Given the description of an element on the screen output the (x, y) to click on. 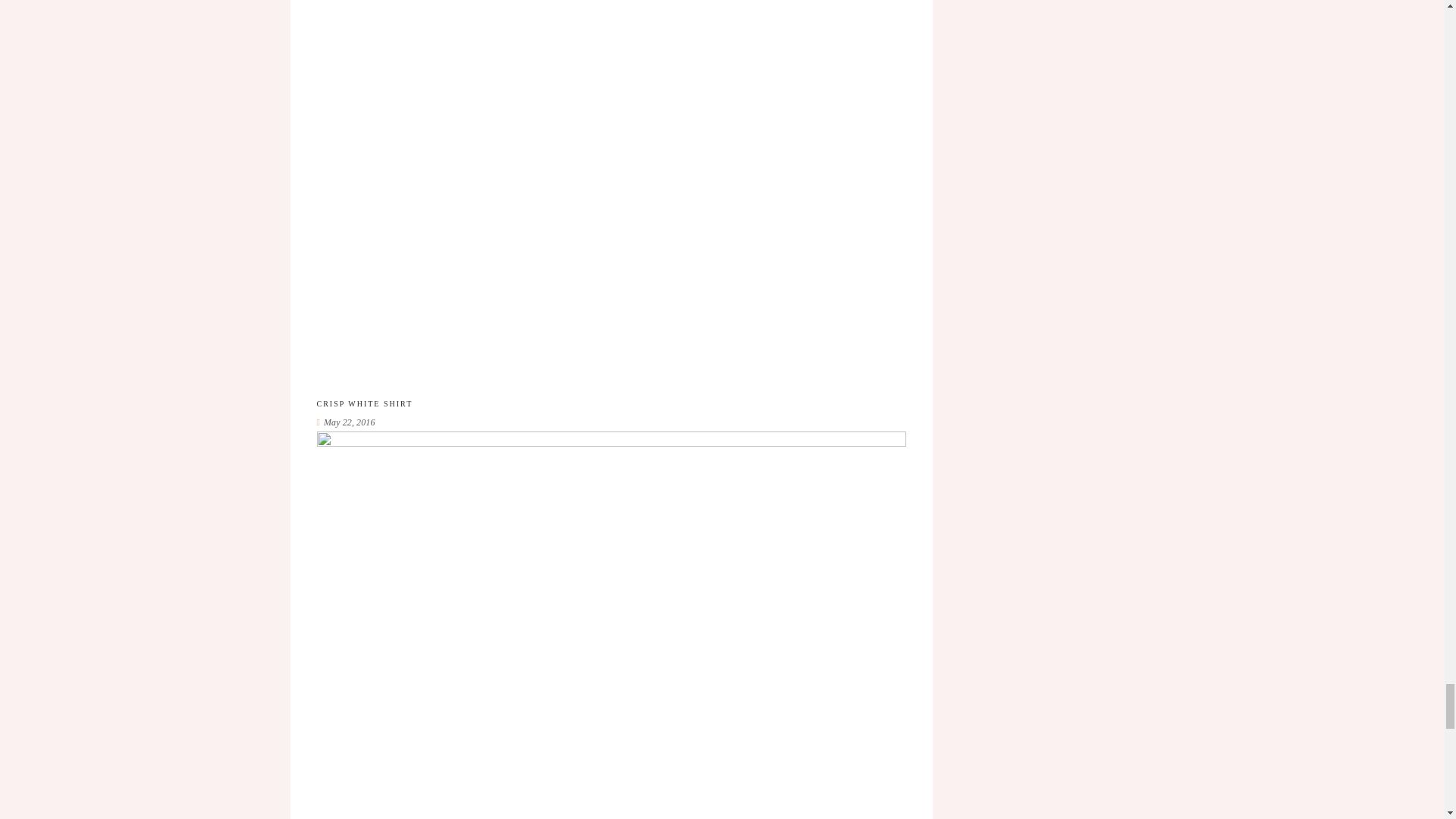
CRISP WHITE SHIRT (365, 403)
